Given the description of an element on the screen output the (x, y) to click on. 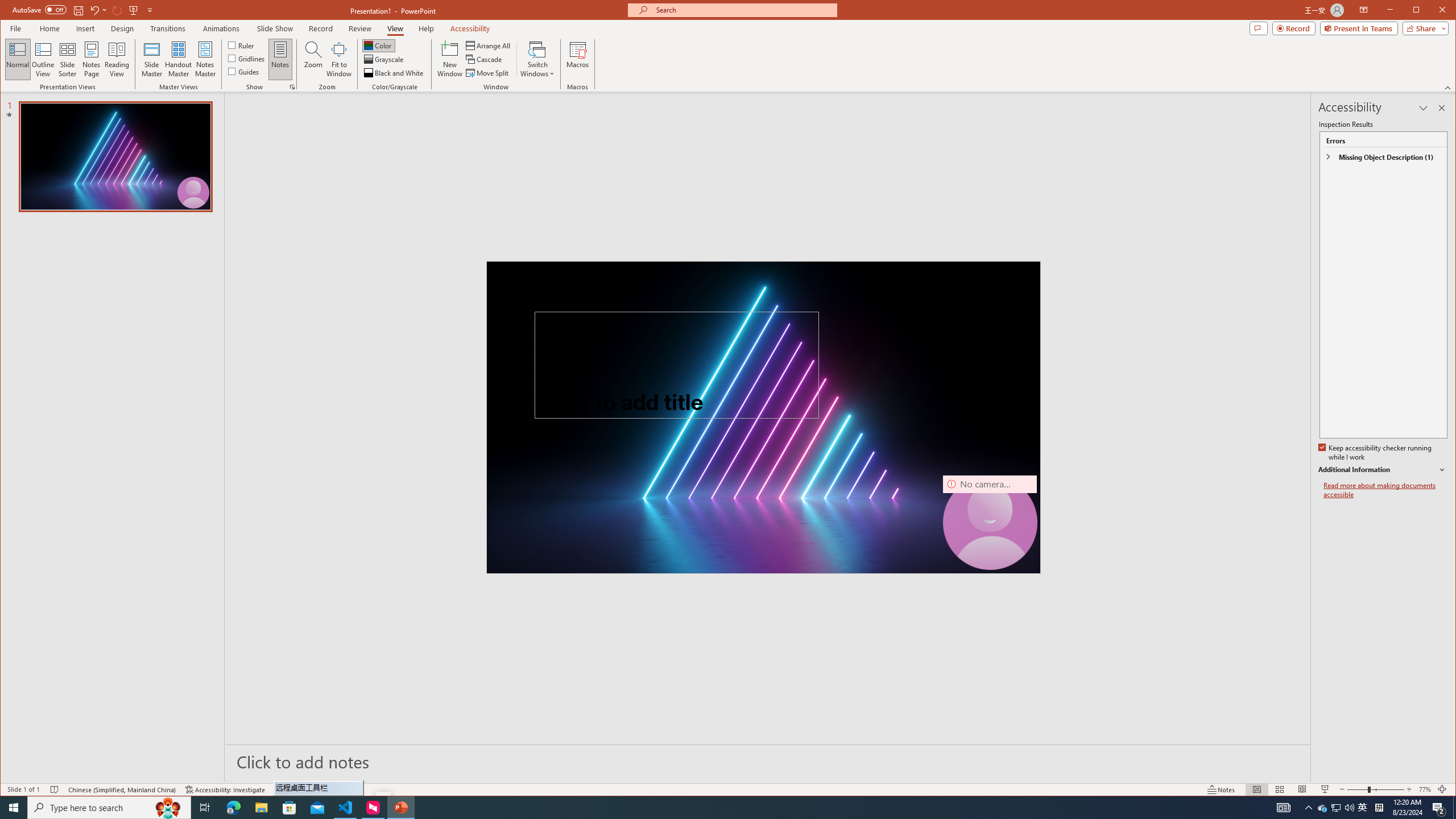
Handout Master (178, 59)
Outline View (42, 59)
Subtitle TextBox (649, 466)
